Given the description of an element on the screen output the (x, y) to click on. 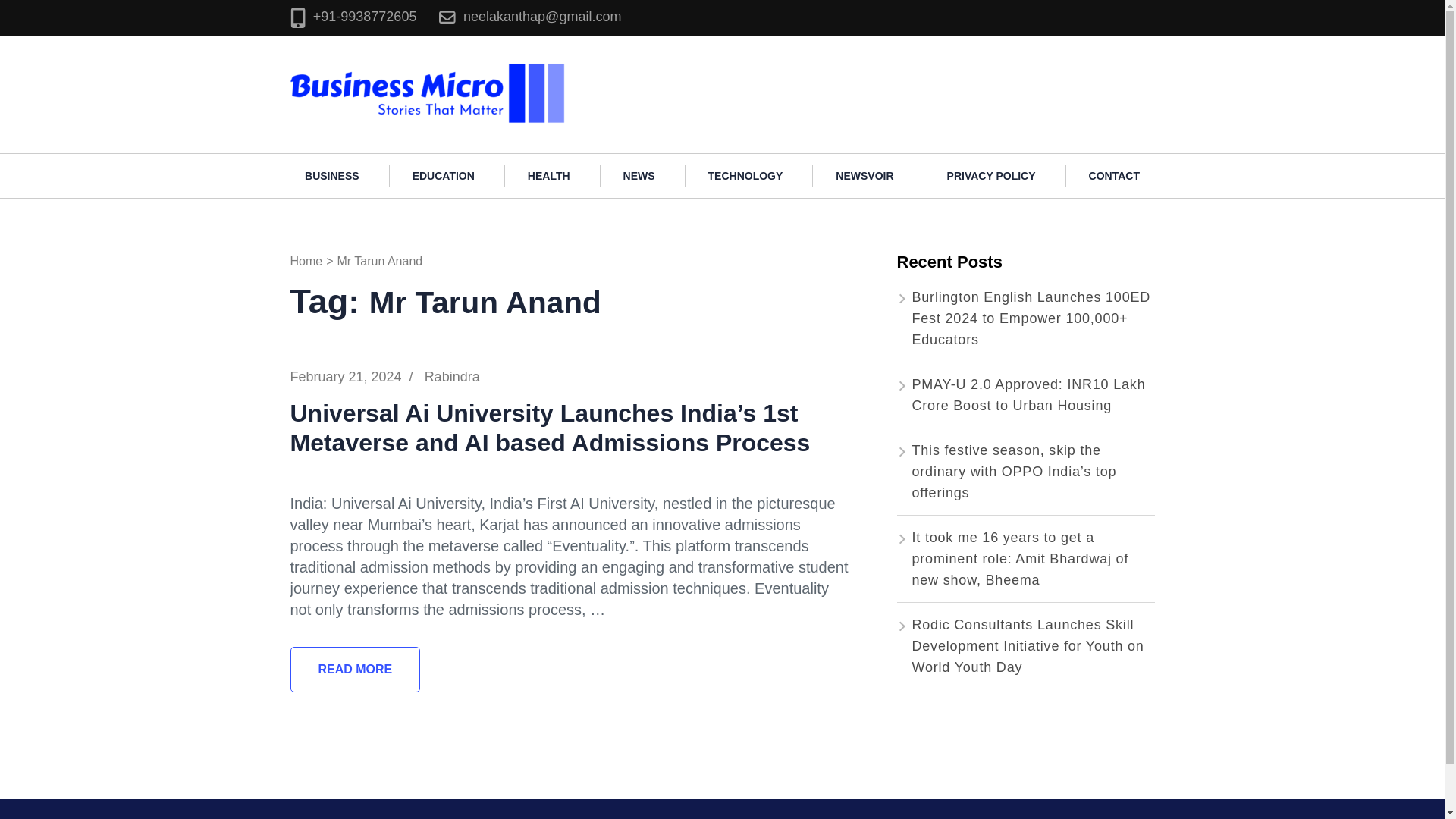
Business Micro (628, 68)
EDUCATION (444, 175)
February 21, 2024 (345, 376)
NEWS (639, 175)
NEWSVOIR (863, 175)
CONTACT (1113, 175)
HEALTH (548, 175)
READ MORE (354, 669)
Home (305, 260)
